Given the description of an element on the screen output the (x, y) to click on. 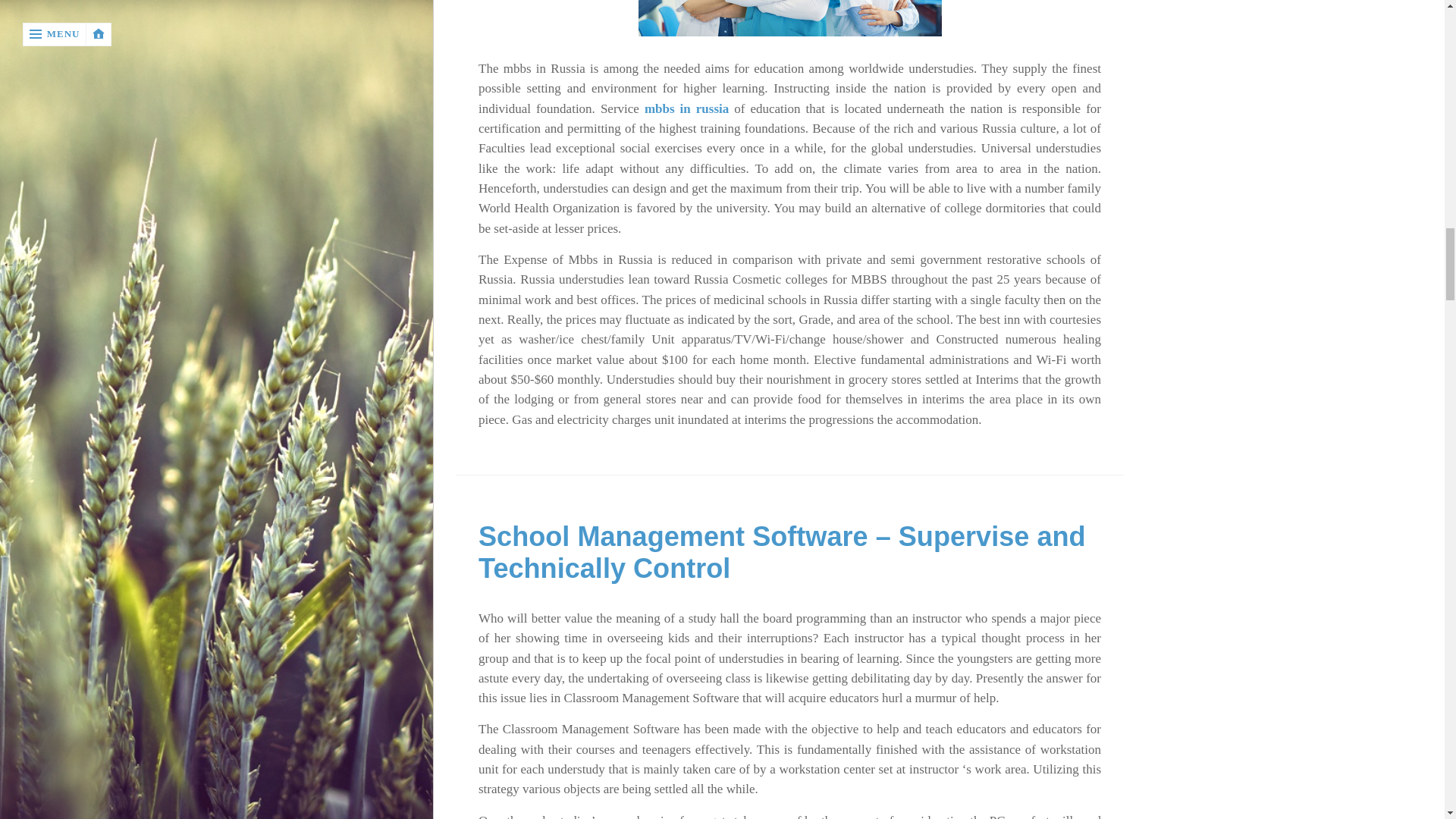
mbbs in russia (687, 108)
